Given the description of an element on the screen output the (x, y) to click on. 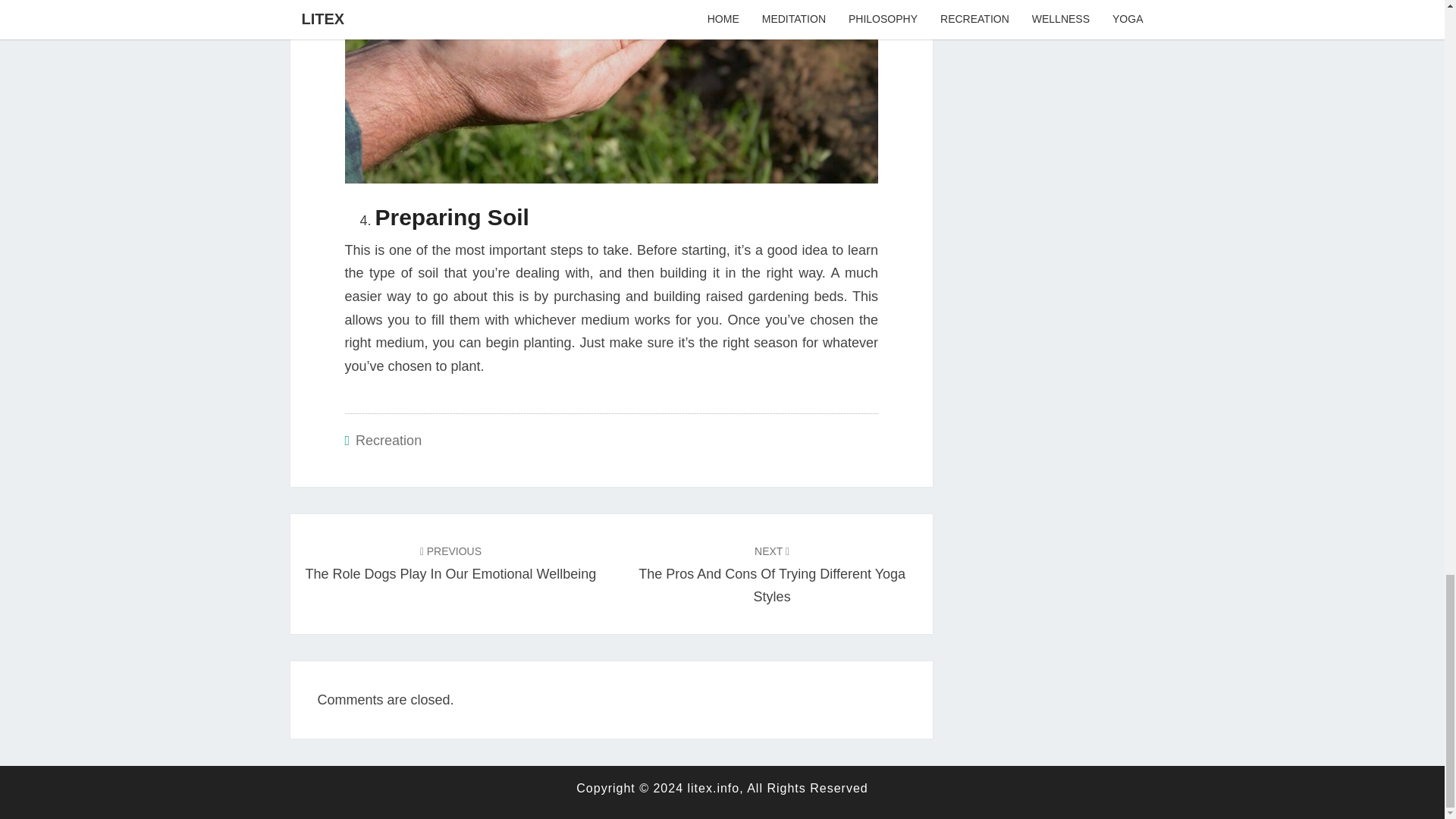
Recreation (388, 440)
